Given the description of an element on the screen output the (x, y) to click on. 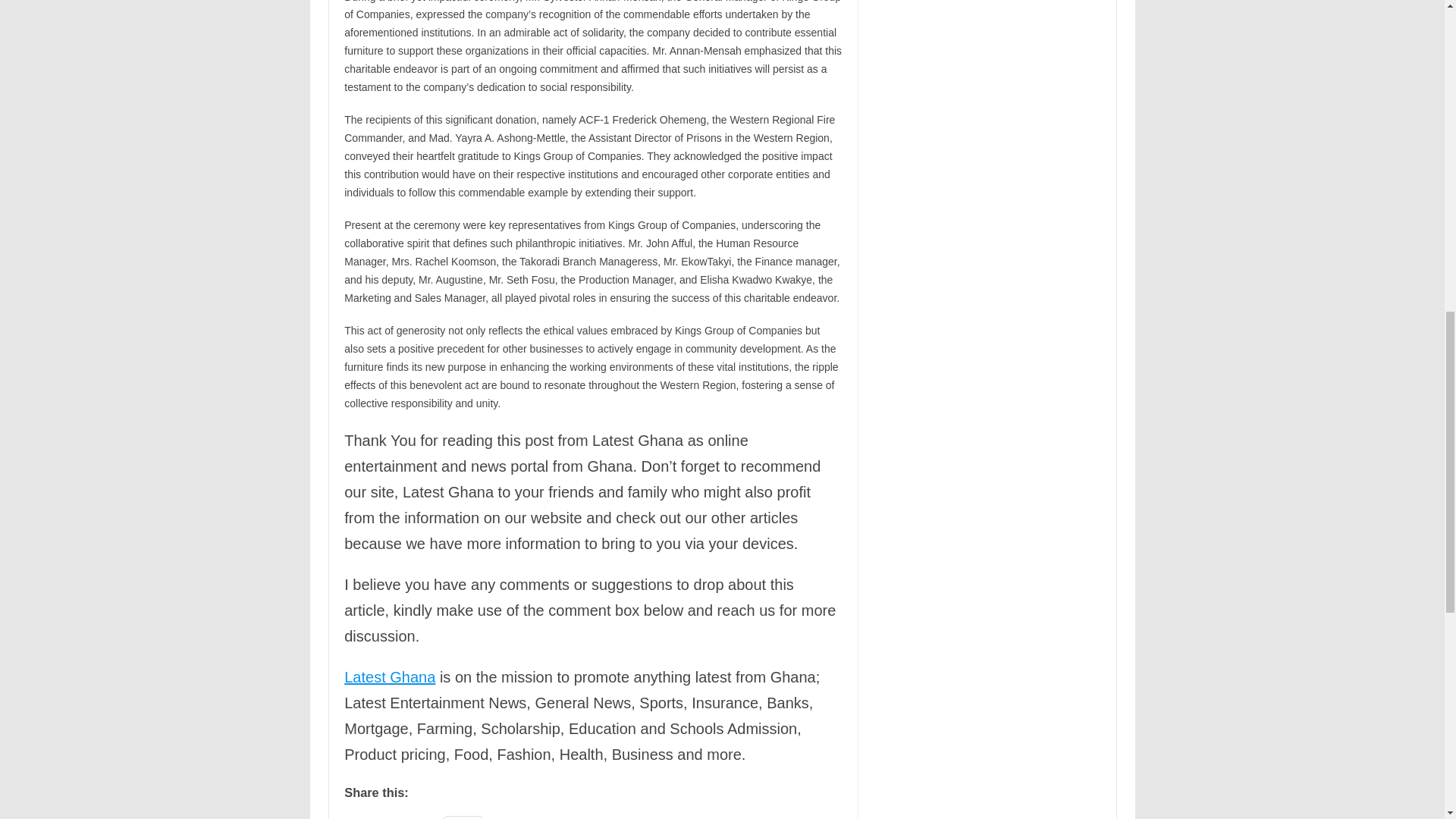
Latest Ghana (389, 677)
More (462, 817)
